Given the description of an element on the screen output the (x, y) to click on. 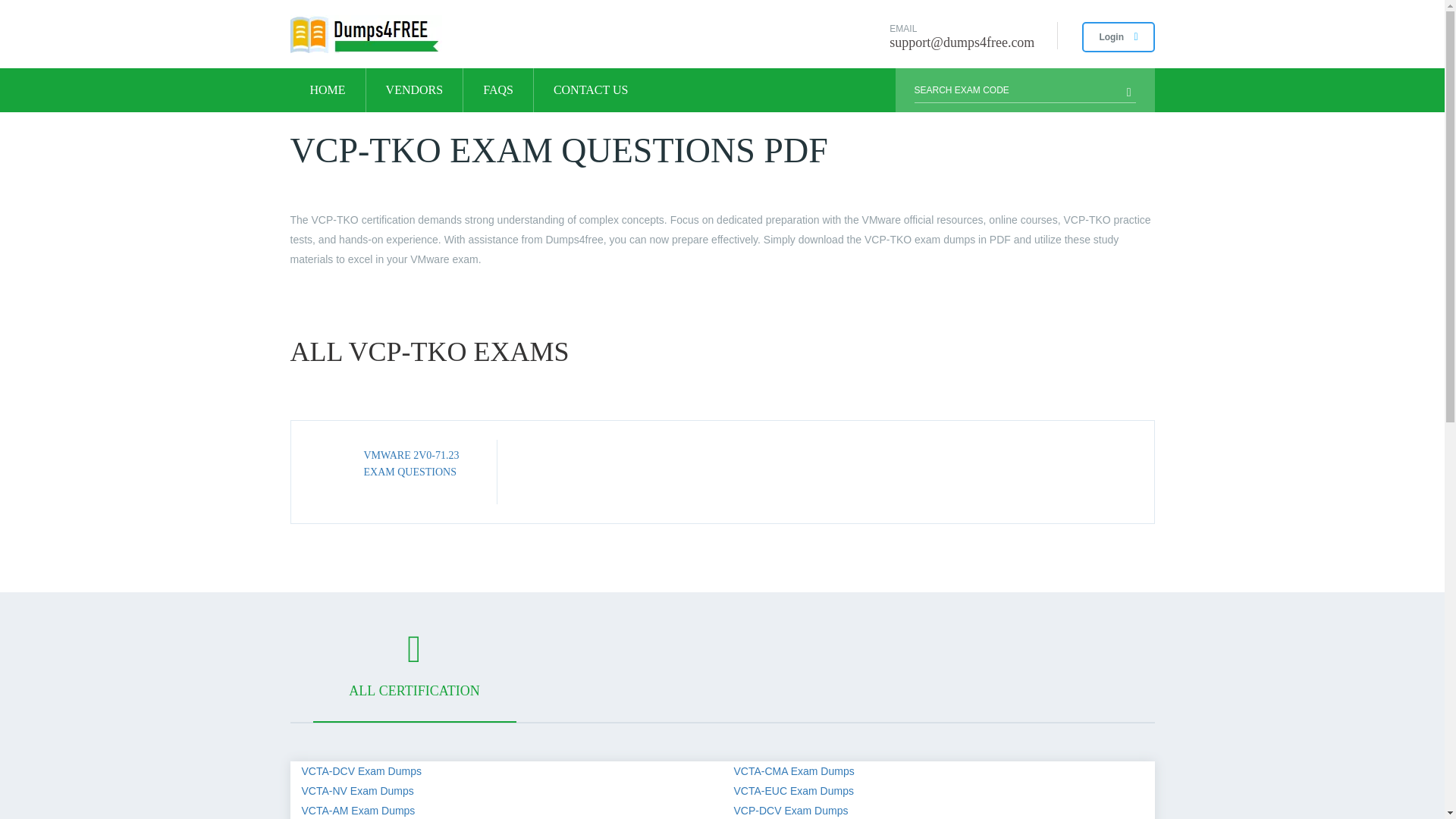
VCTA-DCV Exam Dumps (361, 770)
VCP-DCV Exam Dumps (790, 810)
CONTACT US (590, 89)
VCTA-NV Exam Dumps (357, 790)
ALL CERTIFICATION (414, 675)
VCTA-CMA Exam Dumps (793, 770)
VCTA-EUC Exam Dumps (793, 790)
VMWARE 2V0-71.23 EXAM QUESTIONS (412, 463)
FAQS (497, 89)
HOME (327, 89)
VCTA-AM Exam Dumps (357, 810)
VENDORS (414, 89)
Login (1117, 37)
